Given the description of an element on the screen output the (x, y) to click on. 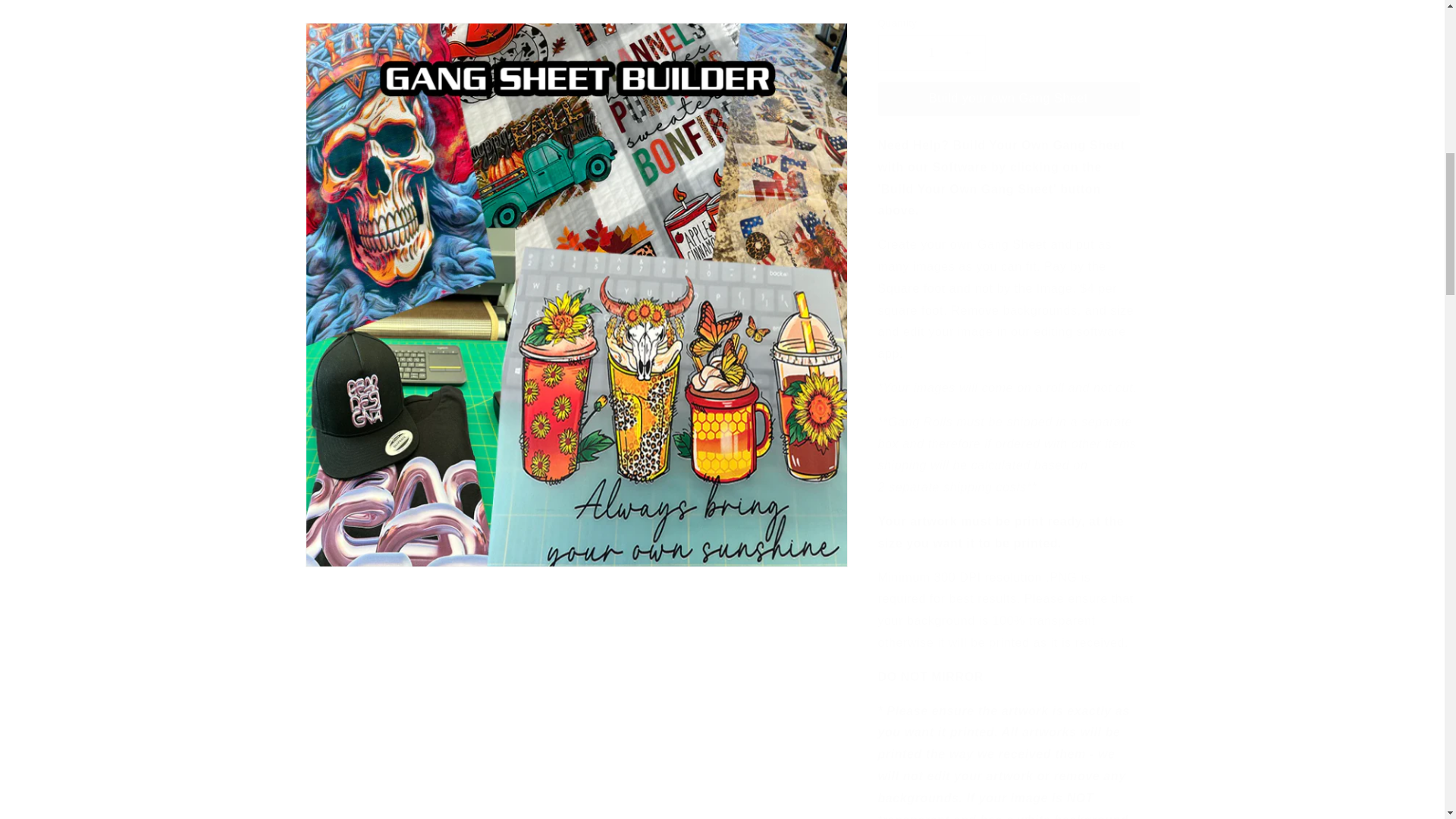
1 (931, 40)
